Given the description of an element on the screen output the (x, y) to click on. 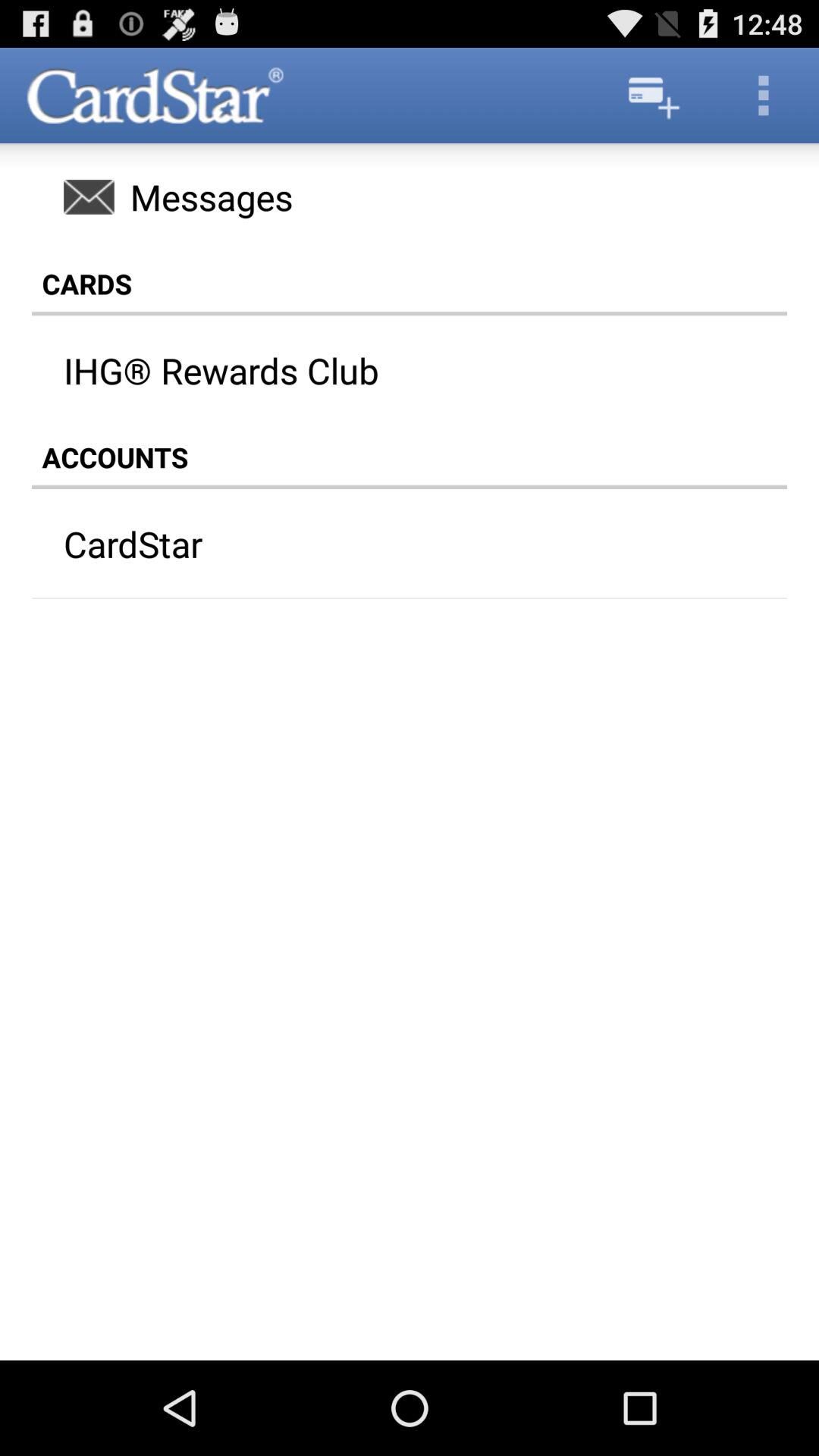
press cardstar at the center (379, 543)
